Given the description of an element on the screen output the (x, y) to click on. 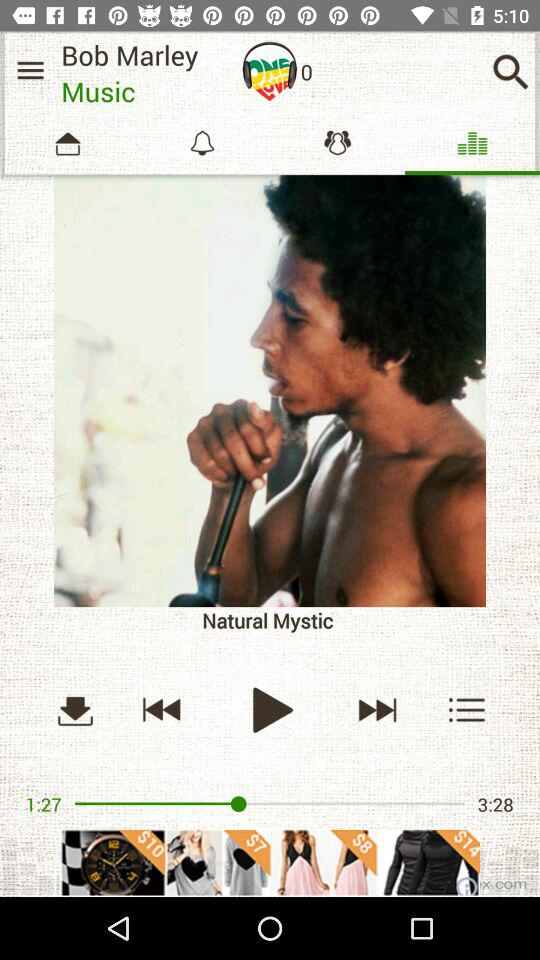
play music (269, 709)
